Given the description of an element on the screen output the (x, y) to click on. 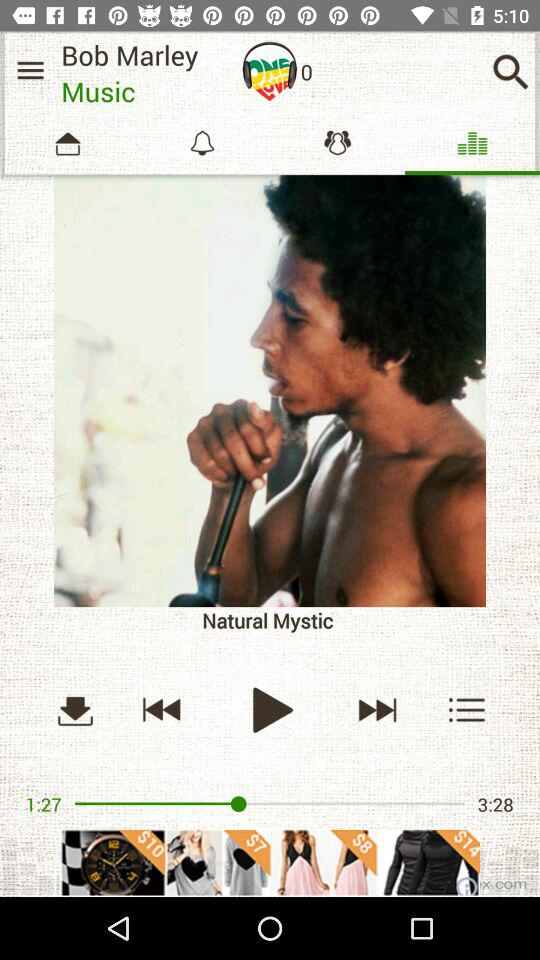
play music (269, 709)
